Given the description of an element on the screen output the (x, y) to click on. 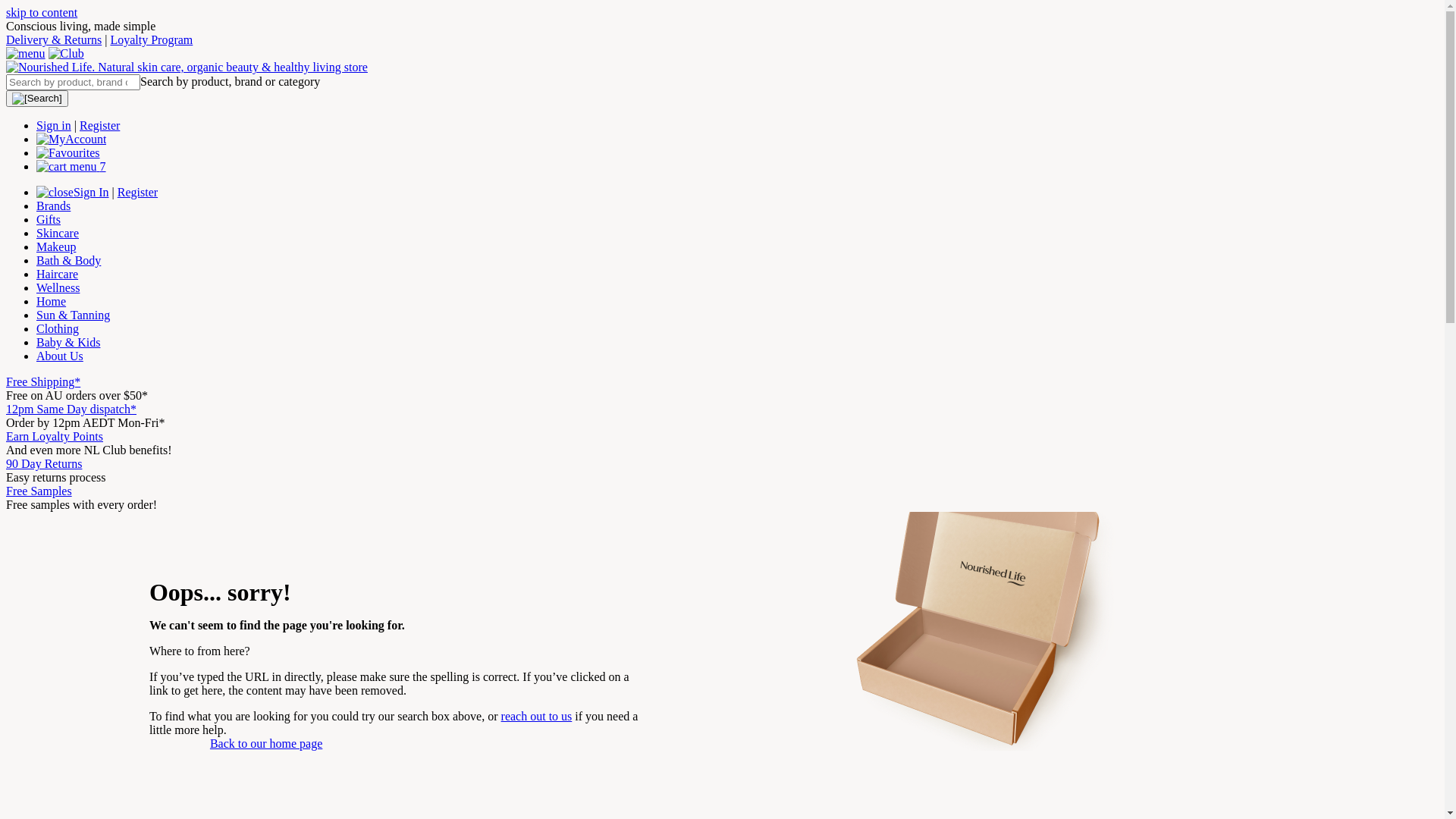
skip to content Element type: text (41, 12)
Register Element type: text (137, 191)
Home Element type: text (50, 300)
Register Element type: text (99, 125)
Bath & Body Element type: text (68, 260)
Free Shipping* Element type: text (43, 381)
Delivery & Returns Element type: text (53, 39)
Sun & Tanning Element type: text (72, 314)
Baby & Kids Element type: text (68, 341)
Loyalty Program Element type: text (150, 39)
Free Samples Element type: text (39, 490)
About Us Element type: text (59, 355)
Sign in Element type: text (53, 125)
90 Day Returns Element type: text (43, 463)
12pm Same Day dispatch* Element type: text (71, 408)
7 Element type: text (71, 166)
Makeup Element type: text (55, 246)
Brands Element type: text (53, 205)
Wellness Element type: text (57, 287)
Clothing Element type: text (57, 328)
Earn Loyalty Points Element type: text (54, 435)
Back to our home page Element type: text (265, 743)
Gifts Element type: text (48, 219)
Sign In Element type: text (91, 191)
Haircare Element type: text (57, 273)
reach out to us Element type: text (536, 715)
Skincare Element type: text (57, 232)
